Given the description of an element on the screen output the (x, y) to click on. 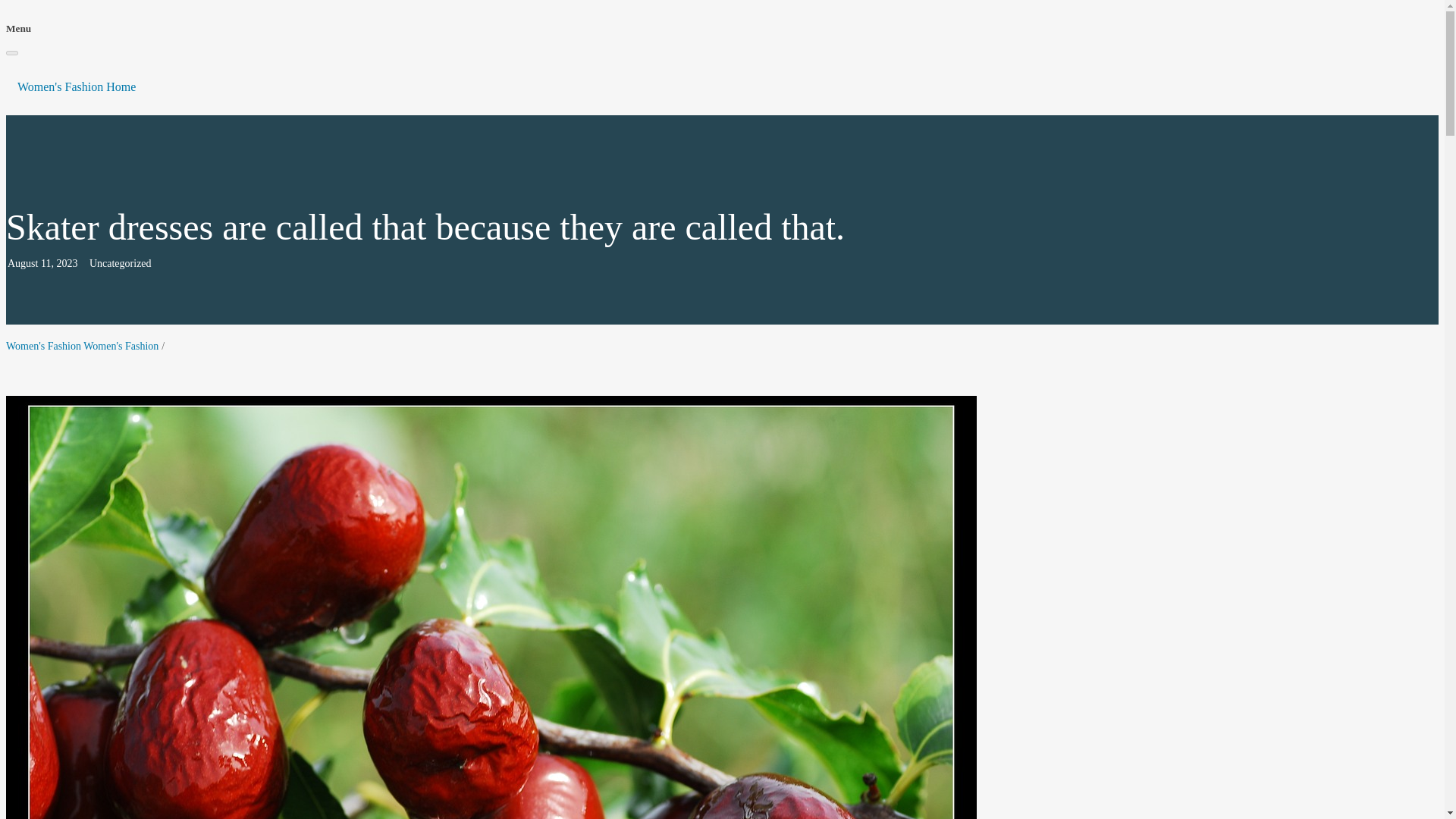
August (22, 263)
Women's Fashion Women's Fashion (81, 346)
2023 (66, 263)
